Given the description of an element on the screen output the (x, y) to click on. 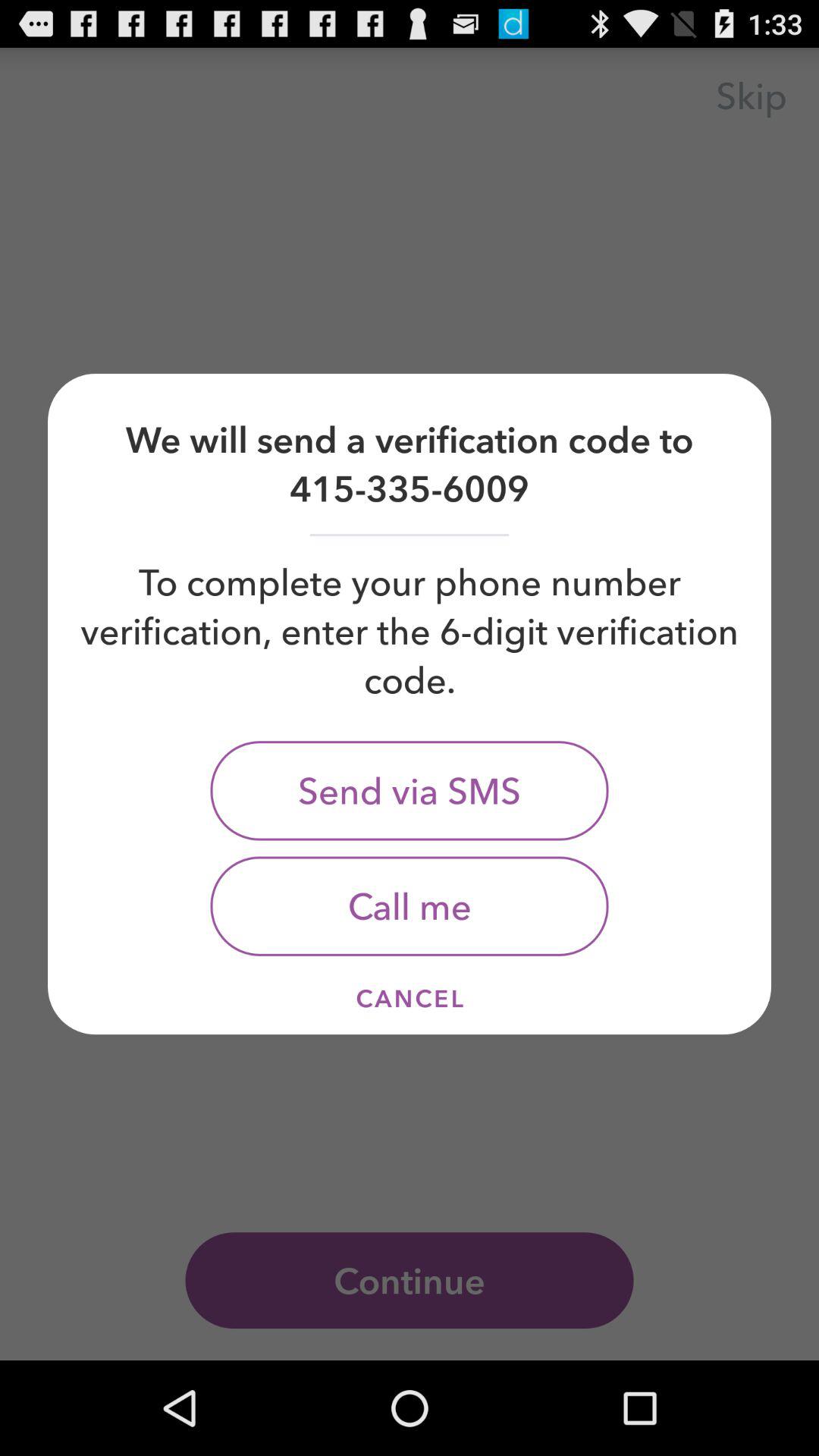
choose cancel (409, 998)
